Given the description of an element on the screen output the (x, y) to click on. 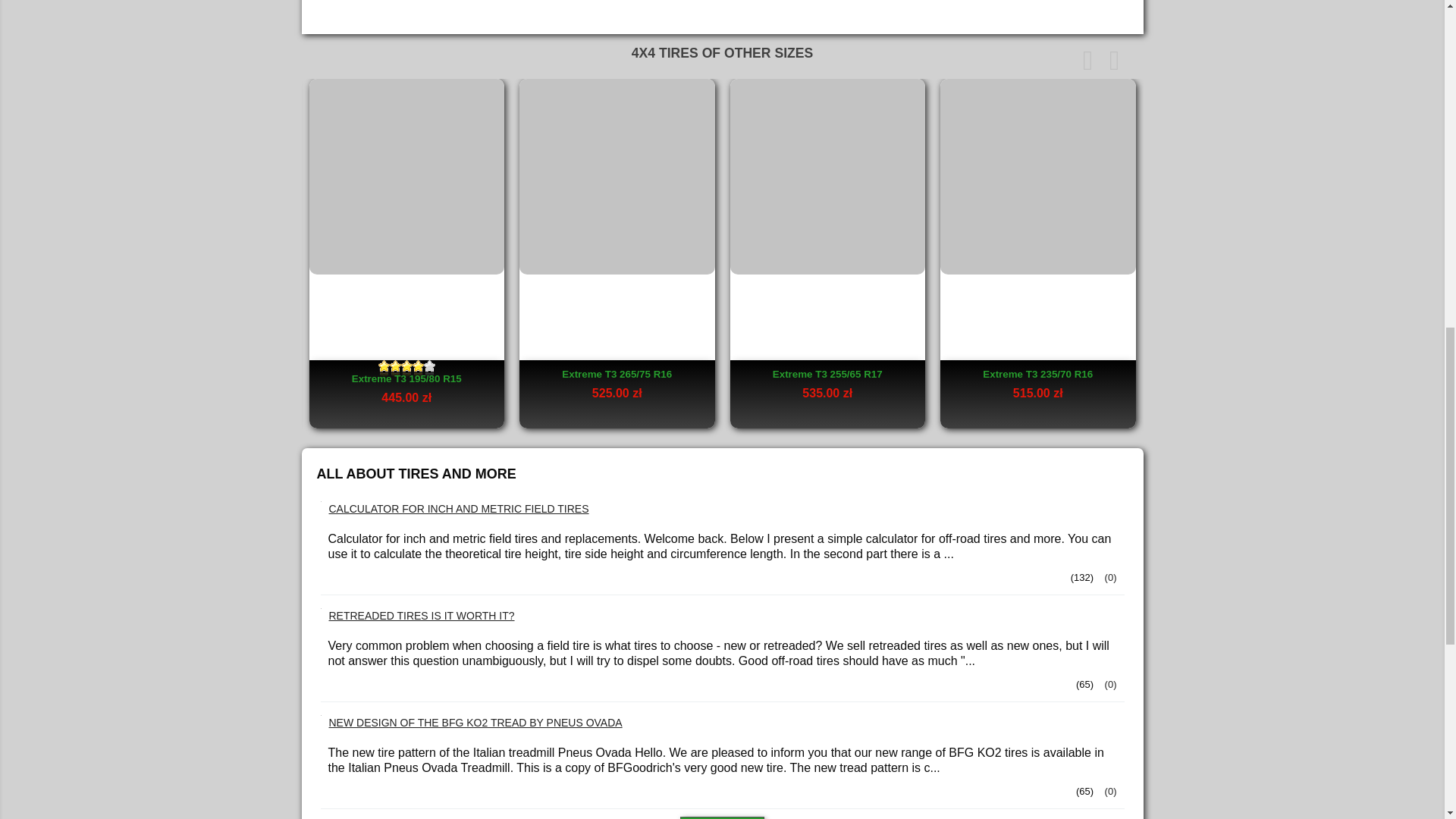
New design of the BFG KO2 tread by Pneus Ovada (476, 723)
View all posts (722, 817)
Calculator for inch and metric field tires (459, 509)
Retreaded tires is it worth it? (422, 617)
New design of the BFG KO2 tread by Pneus Ovada (1109, 790)
Calculator for inch and metric field tires (1109, 577)
Retreaded tires is it worth it? (1109, 684)
